Given the description of an element on the screen output the (x, y) to click on. 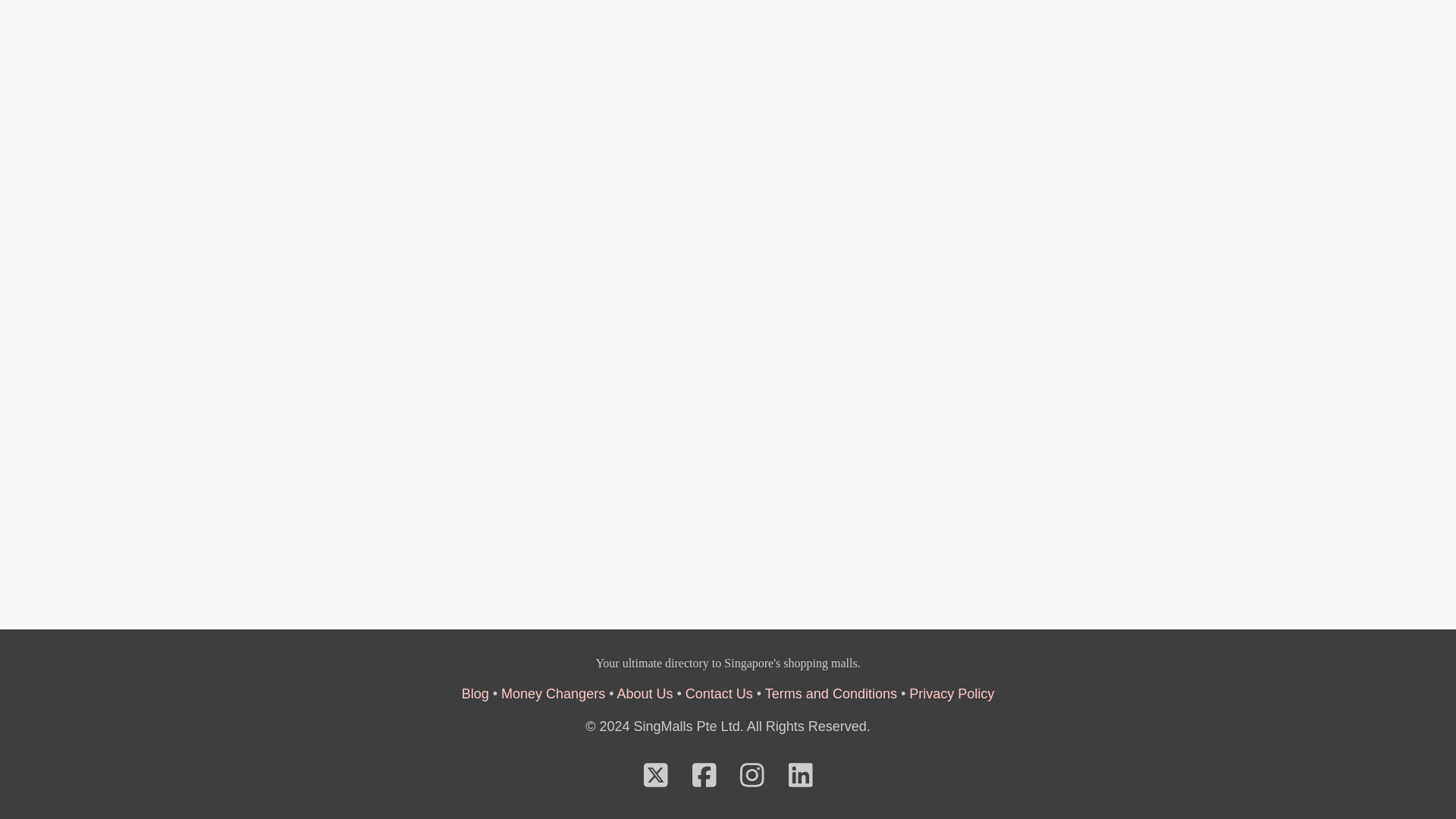
Blog (475, 693)
Contact Us (718, 693)
Money Changers (552, 693)
Find us on LinkedIn (800, 780)
Find us on Instagram (751, 780)
Terms and Conditions (830, 693)
Privacy Policy (951, 693)
Find us on X (655, 780)
Find us on Facebook (703, 780)
About Us (643, 693)
